Given the description of an element on the screen output the (x, y) to click on. 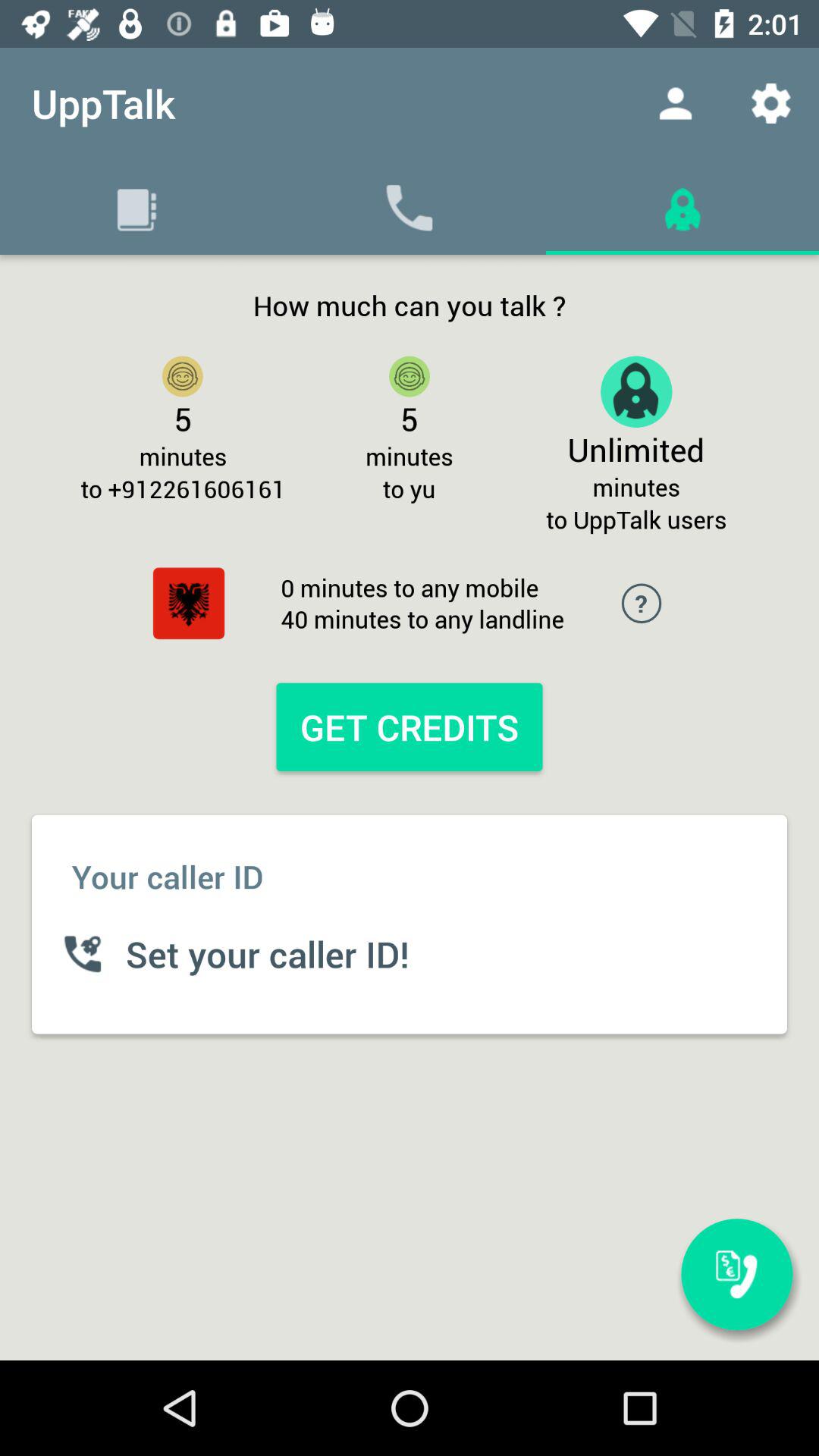
switch to phone (737, 1274)
